Given the description of an element on the screen output the (x, y) to click on. 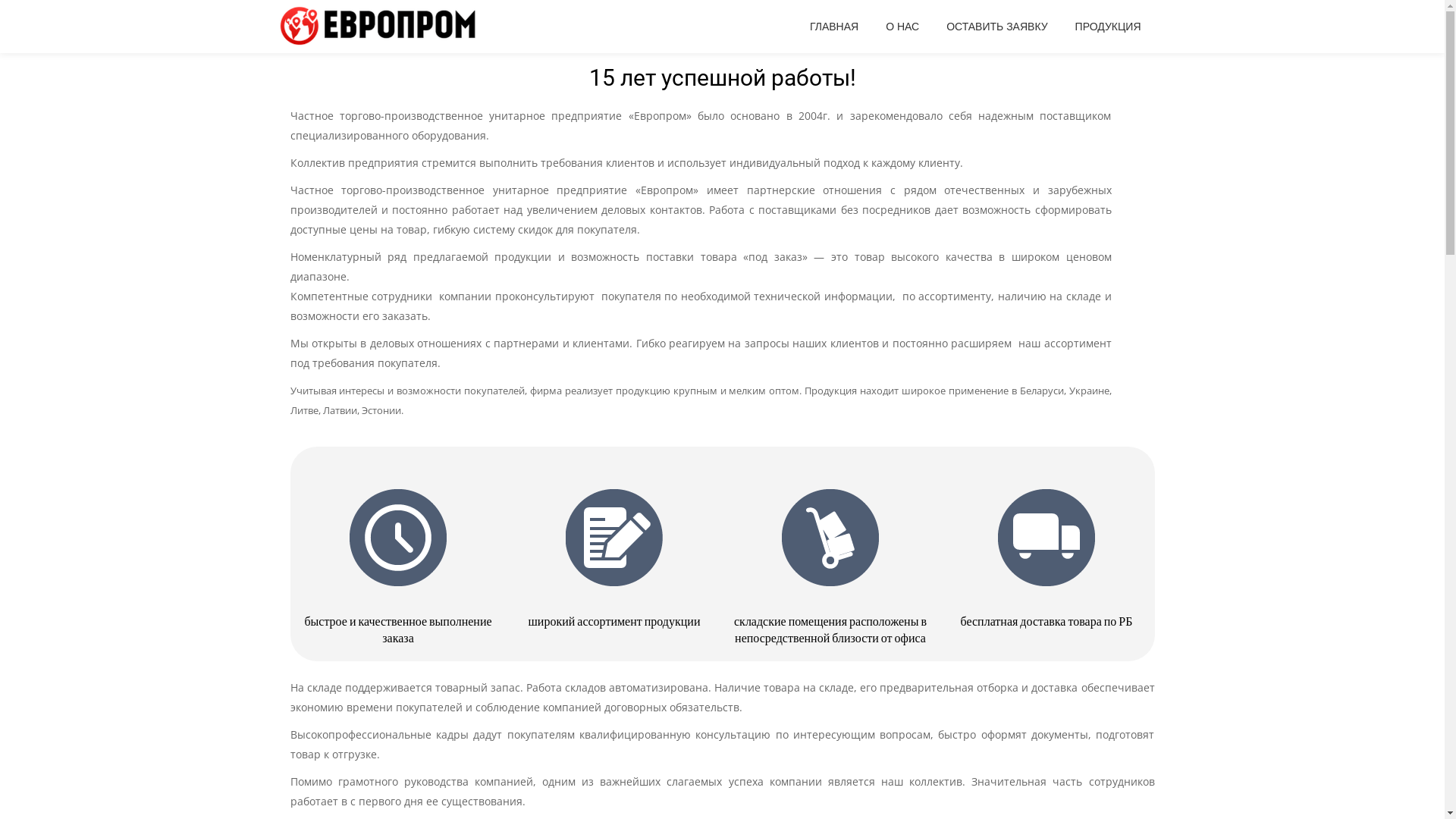
Evroprom Element type: hover (382, 26)
